Given the description of an element on the screen output the (x, y) to click on. 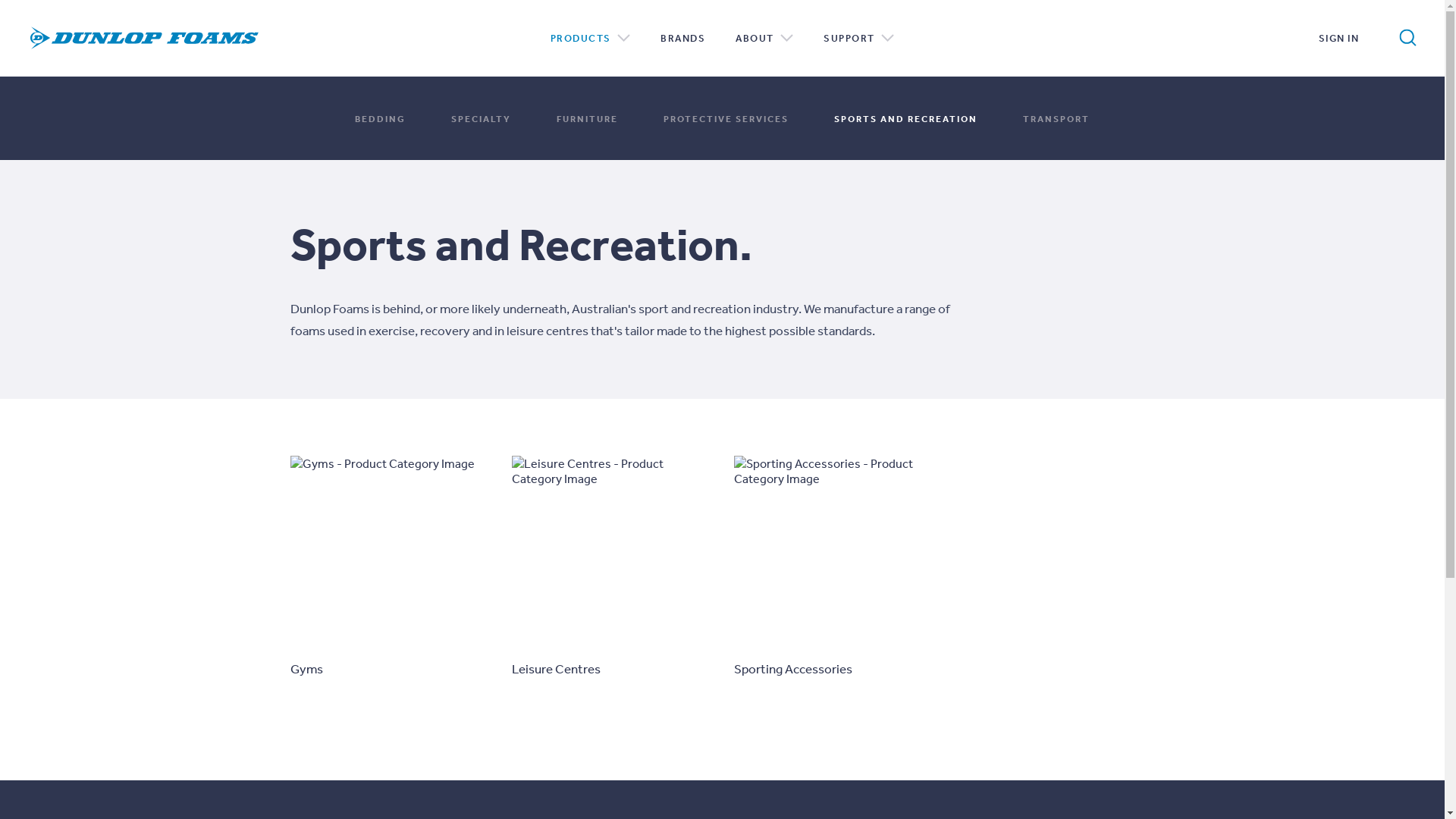
Leisure Centres Element type: text (611, 566)
ABOUT Element type: text (764, 37)
Gyms Element type: text (389, 566)
SPECIALTY Element type: text (481, 117)
Sporting Accessories Element type: text (833, 566)
TRANSPORT Element type: text (1055, 117)
Search Element type: text (1407, 37)
PROTECTIVE SERVICES Element type: text (725, 117)
SUPPORT Element type: text (858, 37)
PRODUCTS Element type: text (590, 37)
BEDDING Element type: text (379, 117)
SIGN IN Element type: text (1337, 37)
SEARCH Element type: text (1353, 34)
FURNITURE Element type: text (587, 117)
Dunlop Foams Element type: text (144, 37)
BRANDS Element type: text (682, 37)
SPORTS AND RECREATION Element type: text (905, 117)
